Given the description of an element on the screen output the (x, y) to click on. 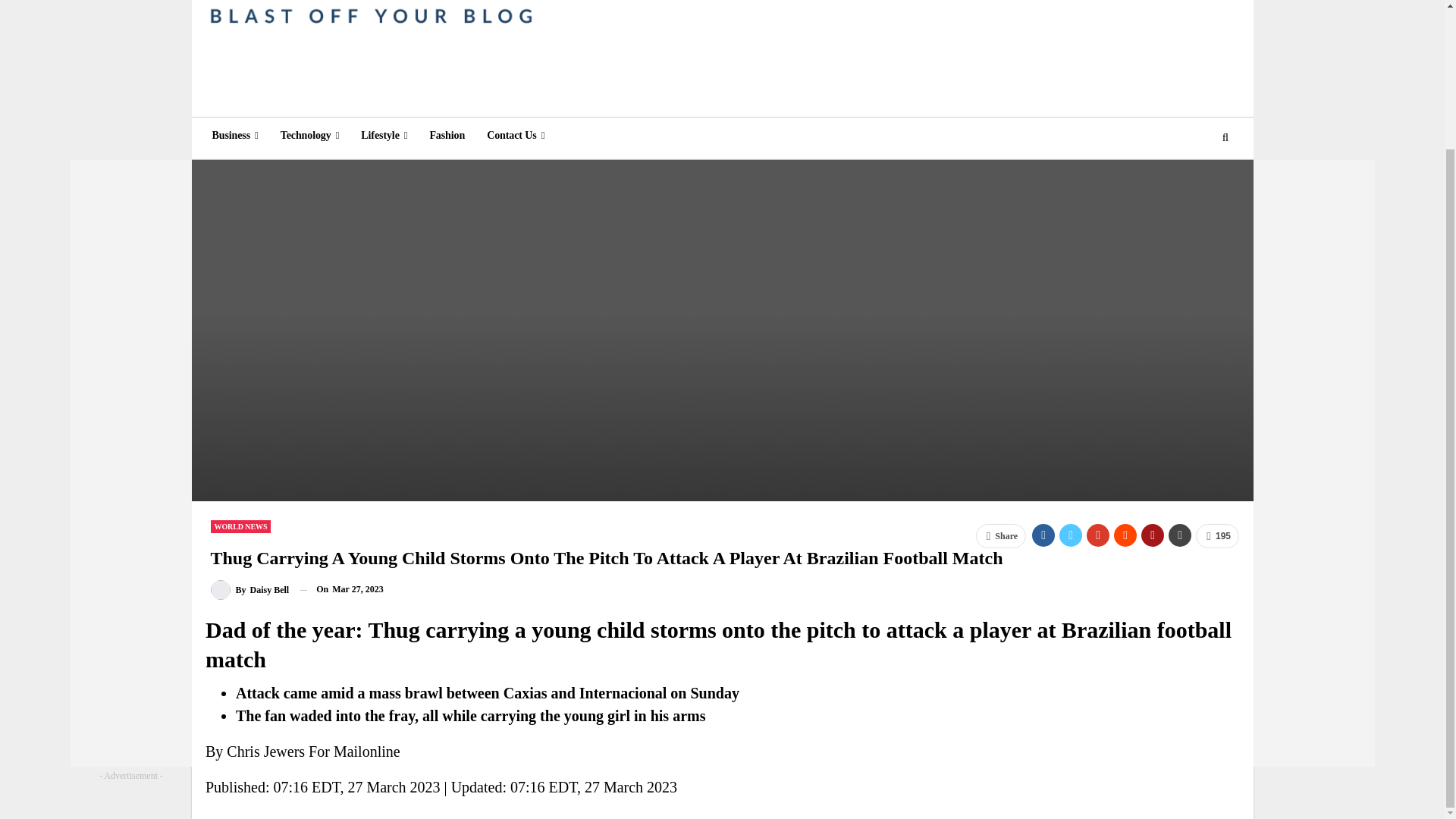
WORLD NEWS (240, 526)
Browse Author Articles (250, 589)
Business (235, 135)
Lifestyle (384, 135)
Contact Us (515, 135)
Fashion (447, 135)
Technology (309, 135)
By Daisy Bell (250, 589)
